Given the description of an element on the screen output the (x, y) to click on. 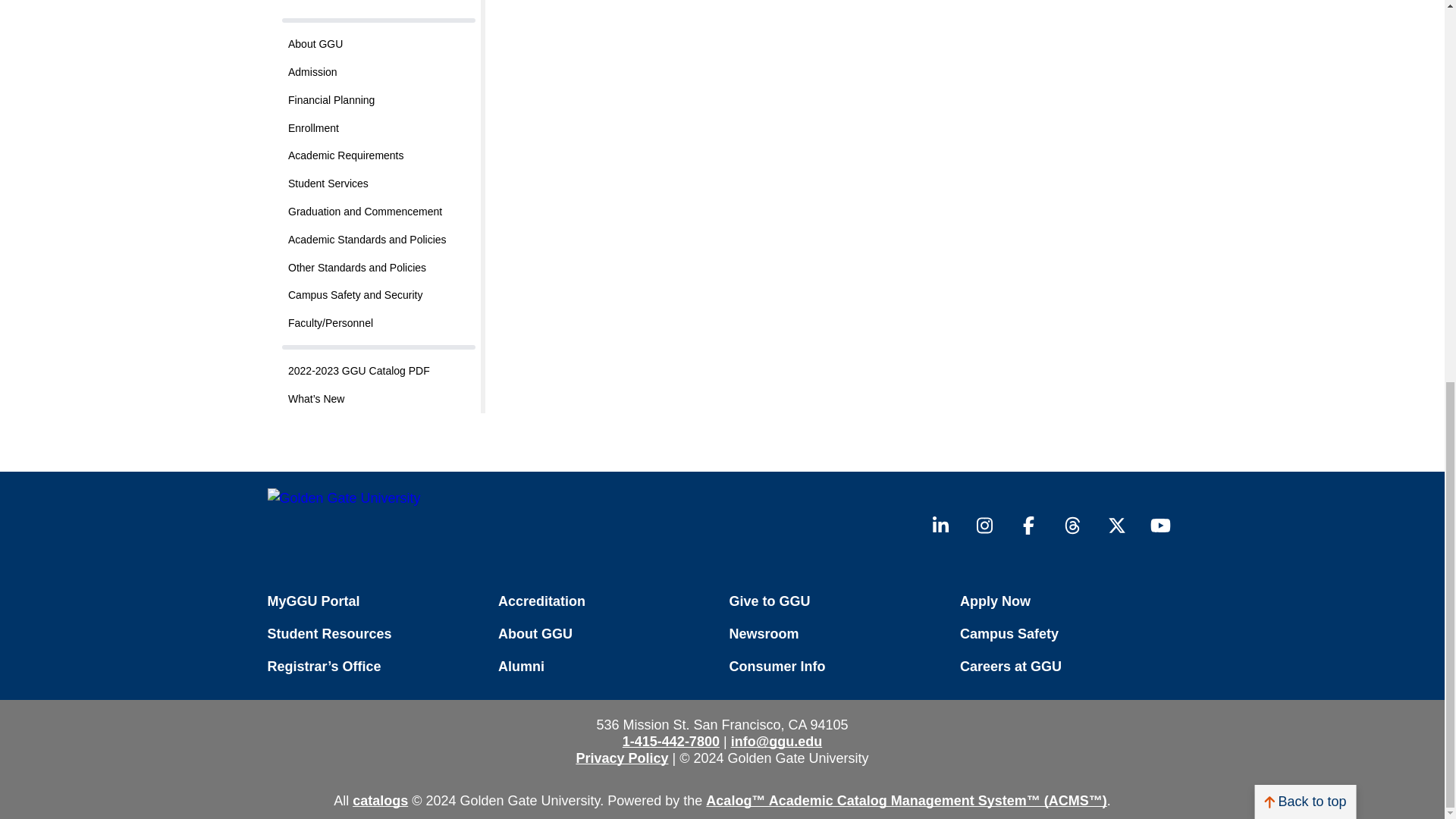
GGU on Facebook (1028, 525)
GGU on Instagram (984, 525)
GGU on LinkedIn (941, 525)
GGU on Threads (1072, 525)
GGU on Youtube (1160, 525)
